Given the description of an element on the screen output the (x, y) to click on. 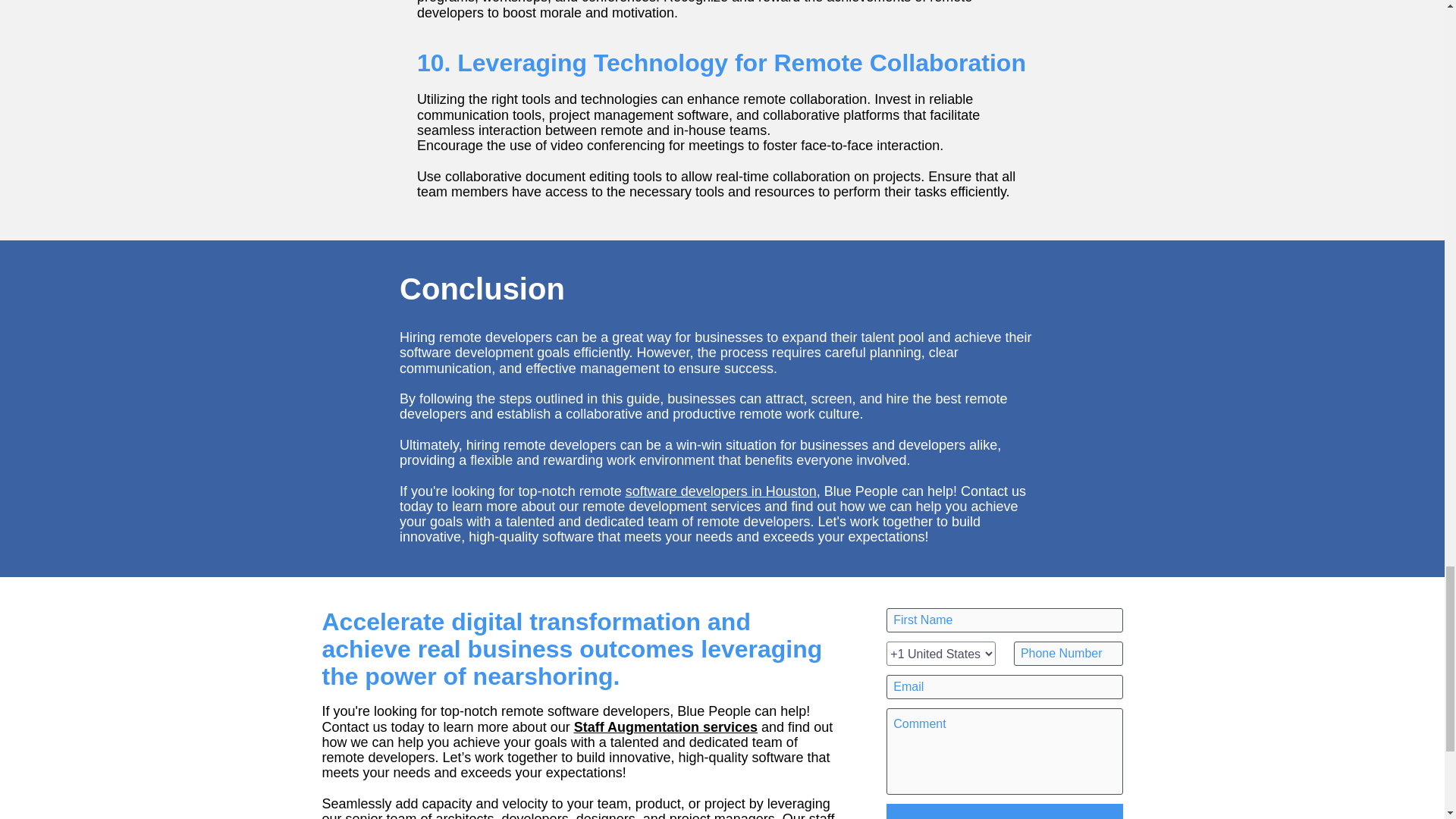
software developers in Houston (721, 491)
Staff Augmentation services (665, 726)
Submit (1004, 811)
